Given the description of an element on the screen output the (x, y) to click on. 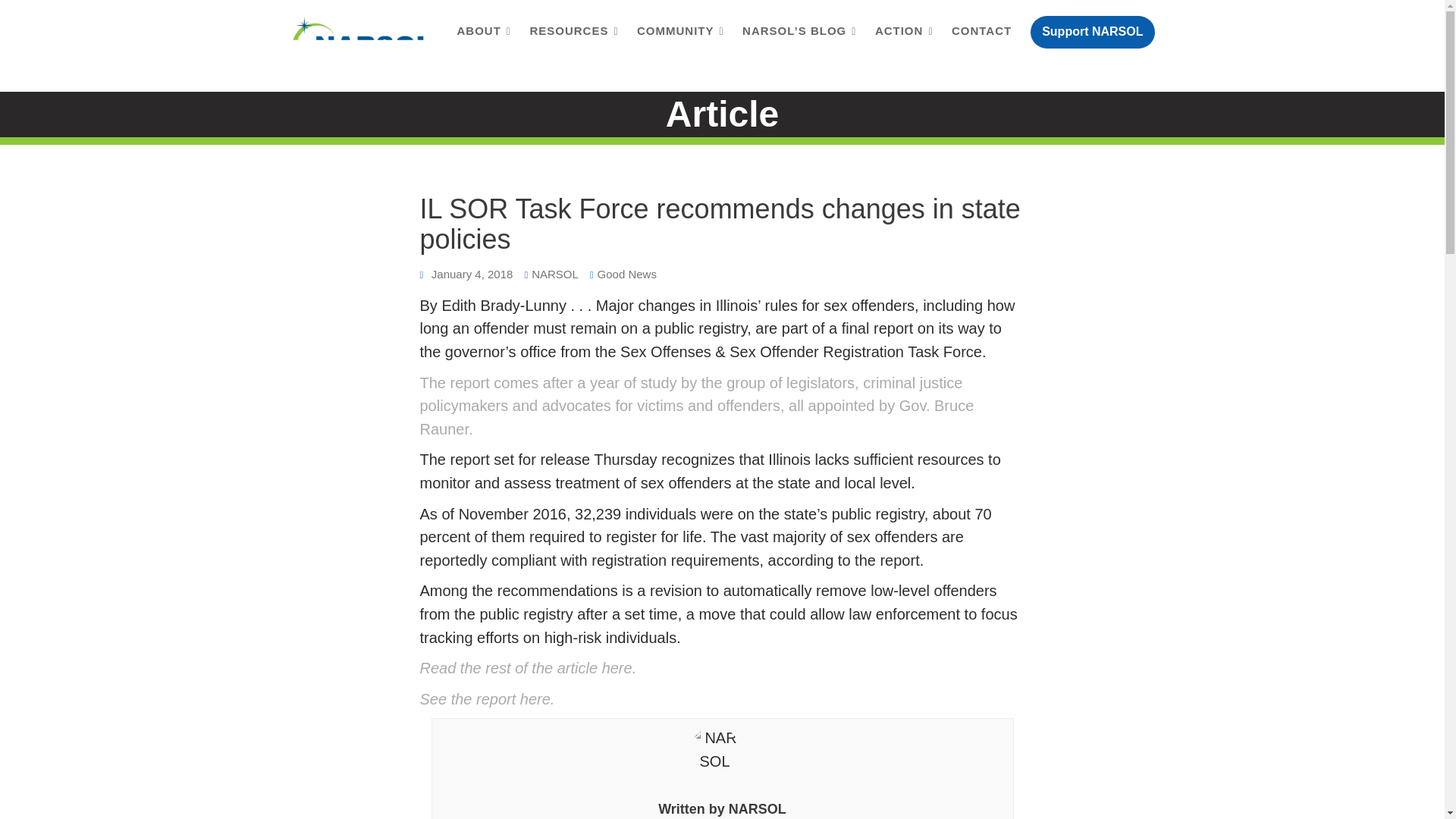
RESOURCES (573, 31)
COMMUNITY (680, 31)
Posts by NARSOL (757, 808)
Support NARSOL (1092, 31)
ABOUT (483, 31)
